Given the description of an element on the screen output the (x, y) to click on. 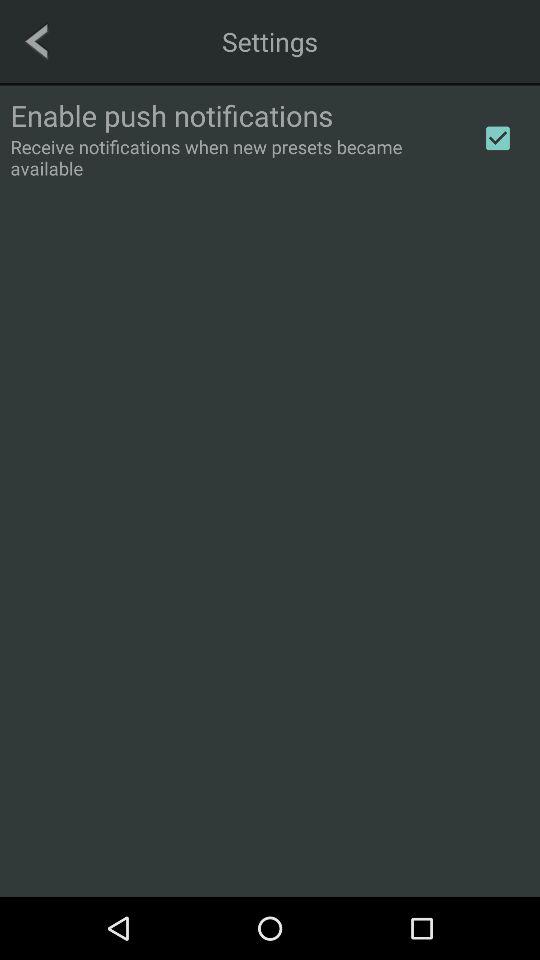
go to previous (36, 41)
